Given the description of an element on the screen output the (x, y) to click on. 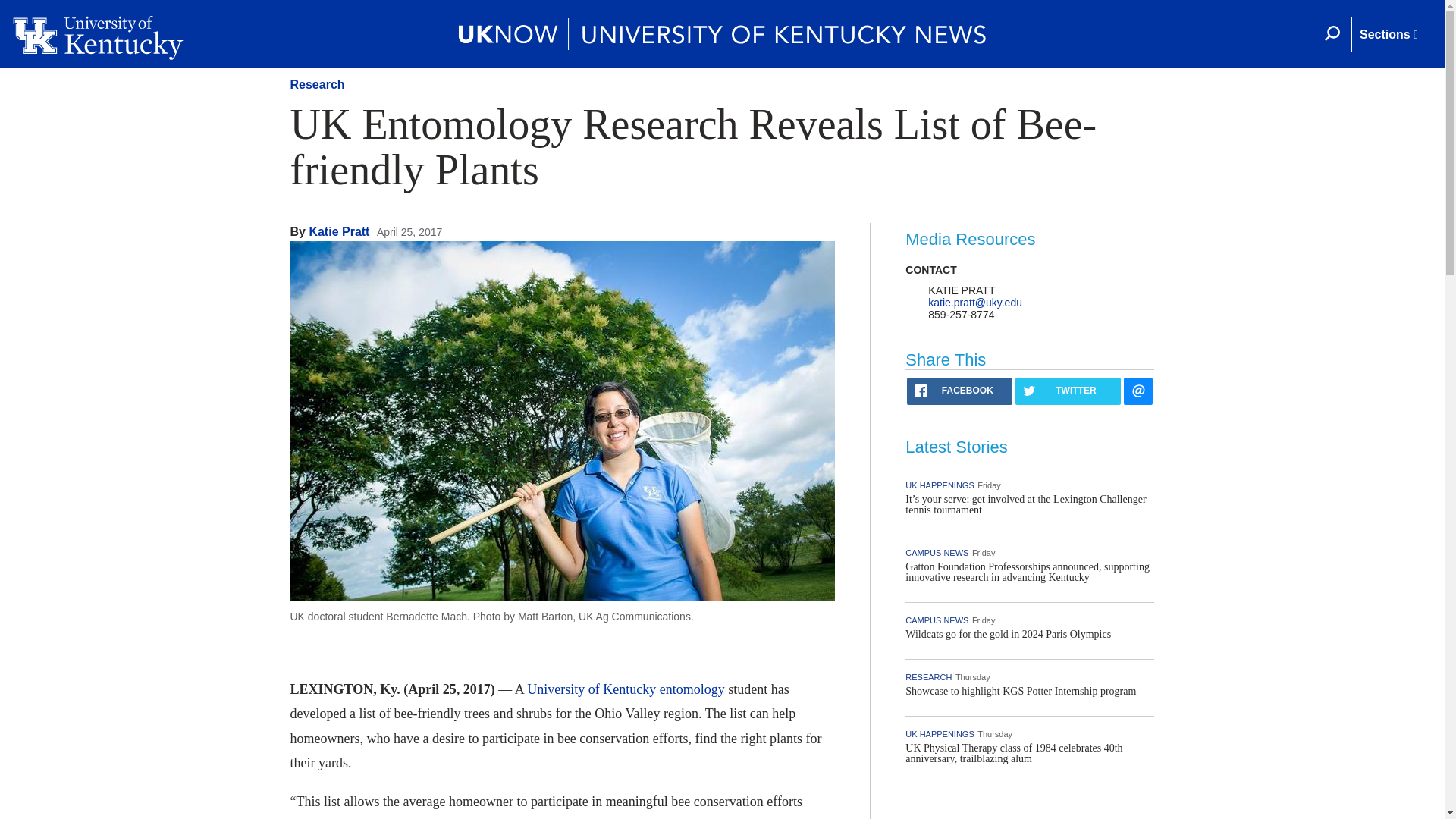
Section navigation menu (1388, 34)
University of Kentucky (591, 688)
entomology (692, 688)
Research (316, 83)
Sections (1388, 34)
Wildcats go for the gold in 2024 Paris Olympics (1007, 633)
Showcase to highlight KGS Potter Internship program (1020, 690)
FACEBOOK (959, 390)
TWITTER (1067, 390)
Katie Pratt (338, 231)
